Given the description of an element on the screen output the (x, y) to click on. 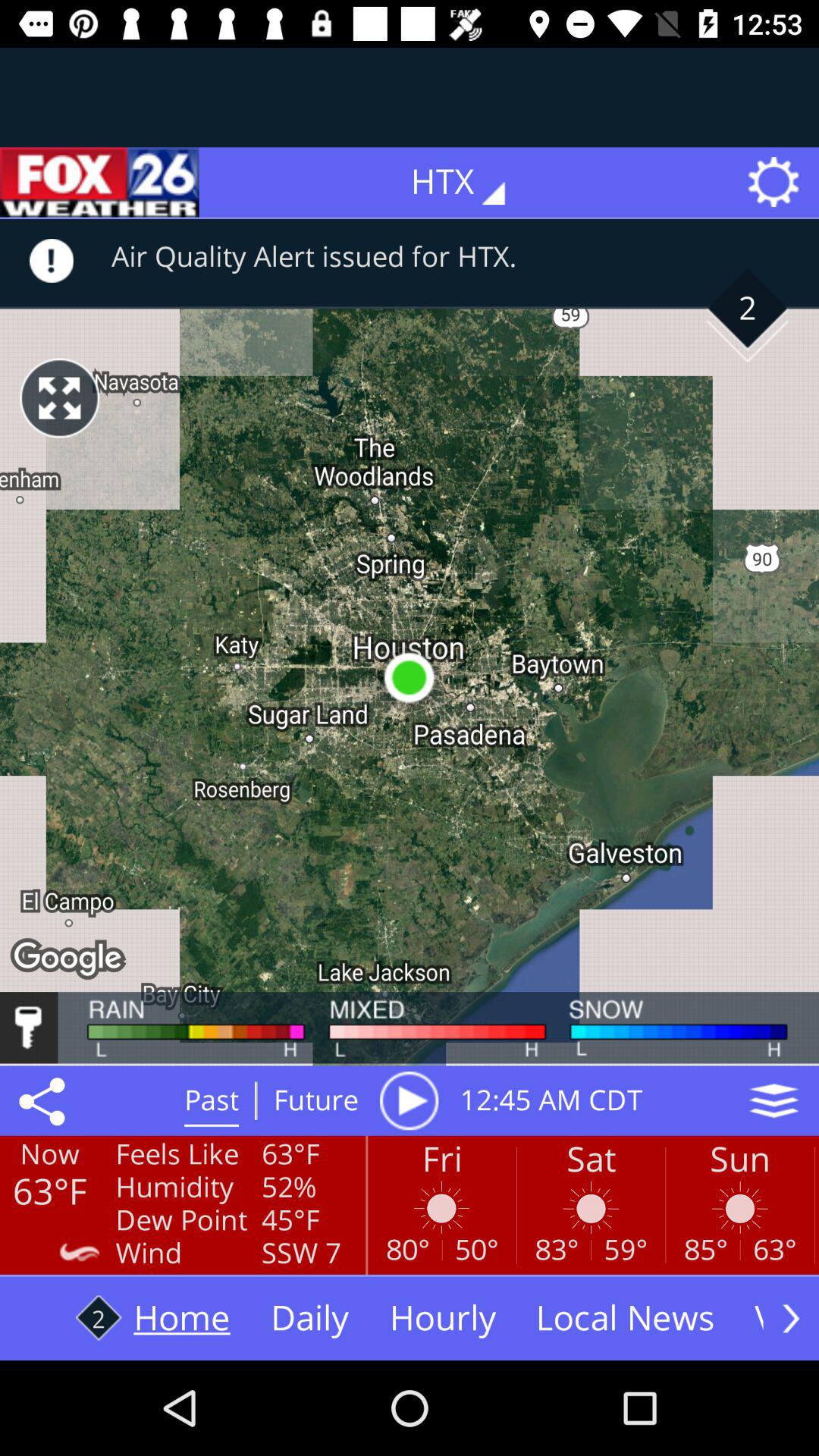
turn off item next to 12 45 am (774, 1100)
